Given the description of an element on the screen output the (x, y) to click on. 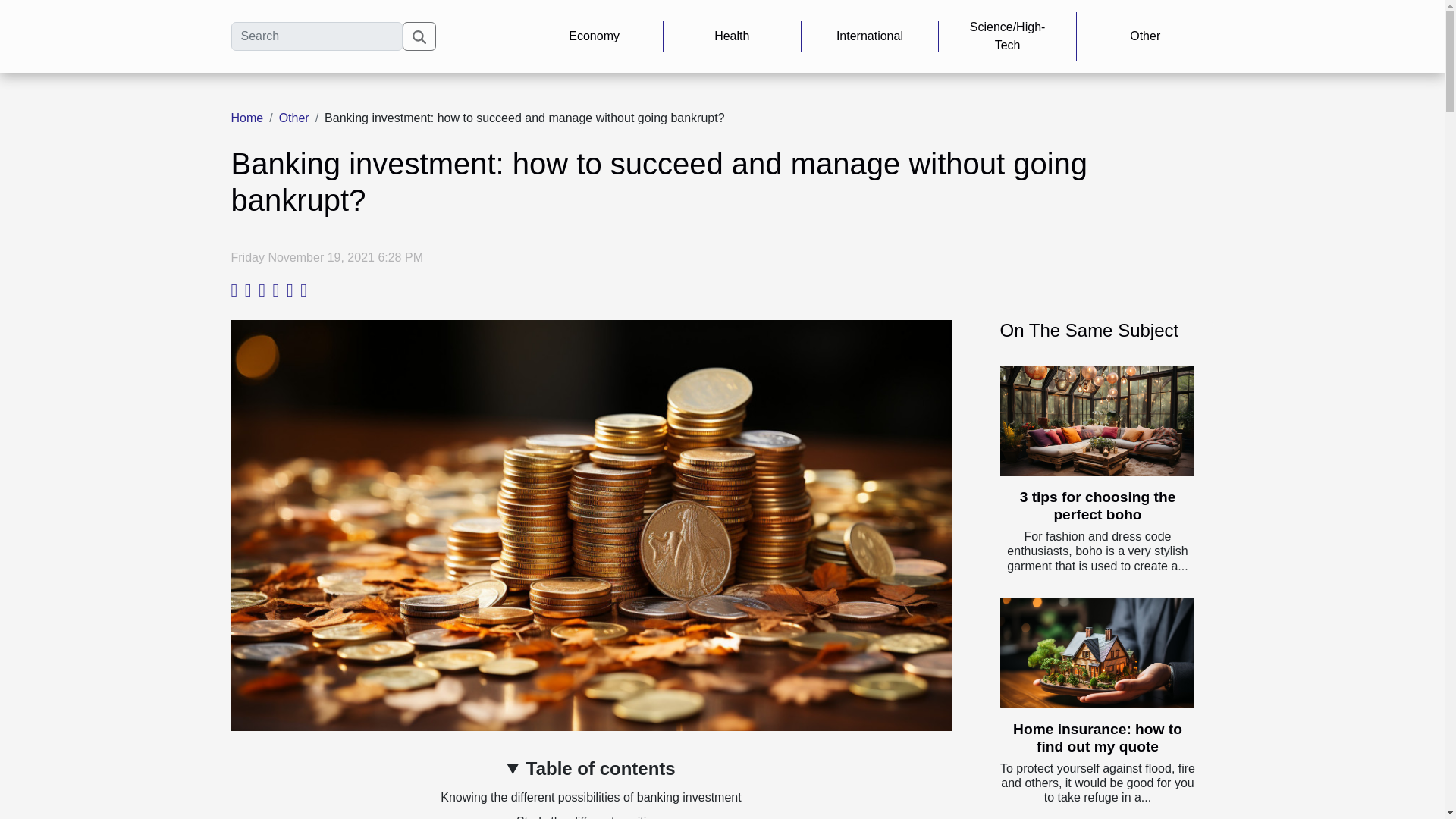
3 tips for choosing the perfect boho (1098, 505)
Other (293, 117)
Other (1145, 36)
Home insurance: how to find out my quote (1097, 737)
Health (732, 36)
Knowing the different possibilities of banking investment (591, 797)
Home insurance: how to find out my quote (1097, 737)
Study the different positions (590, 816)
Economy (593, 36)
Other (293, 117)
